Given the description of an element on the screen output the (x, y) to click on. 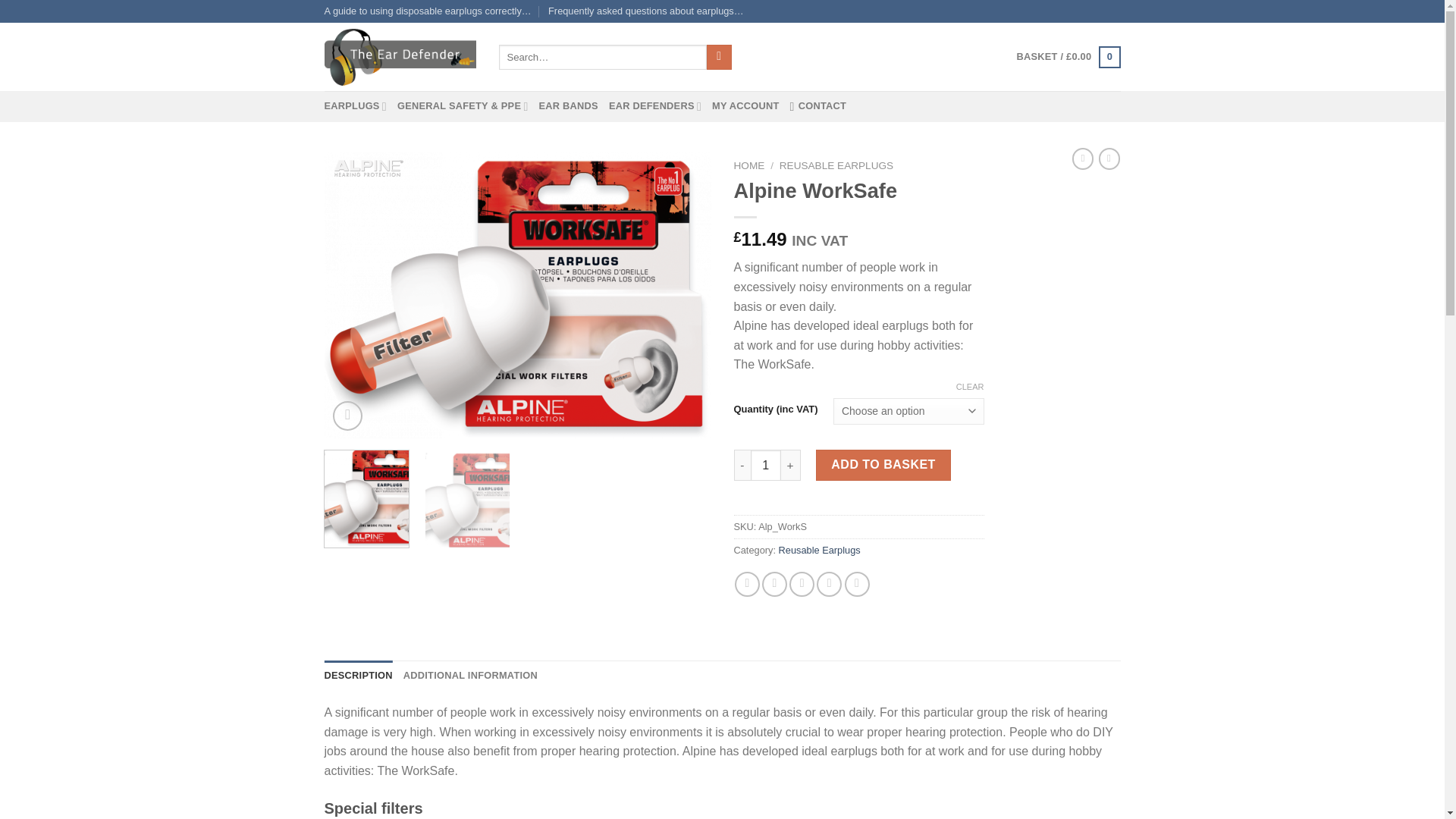
1 (765, 464)
REUSABLE EARPLUGS (835, 165)
Share on Twitter (774, 584)
Zoom (347, 415)
The Ear Defender - Earplugs for Every Occasion (400, 57)
MY ACCOUNT (744, 105)
EAR BANDS (567, 105)
EAR DEFENDERS (654, 105)
EARPLUGS (355, 105)
Pin on Pinterest (828, 584)
